Given the description of an element on the screen output the (x, y) to click on. 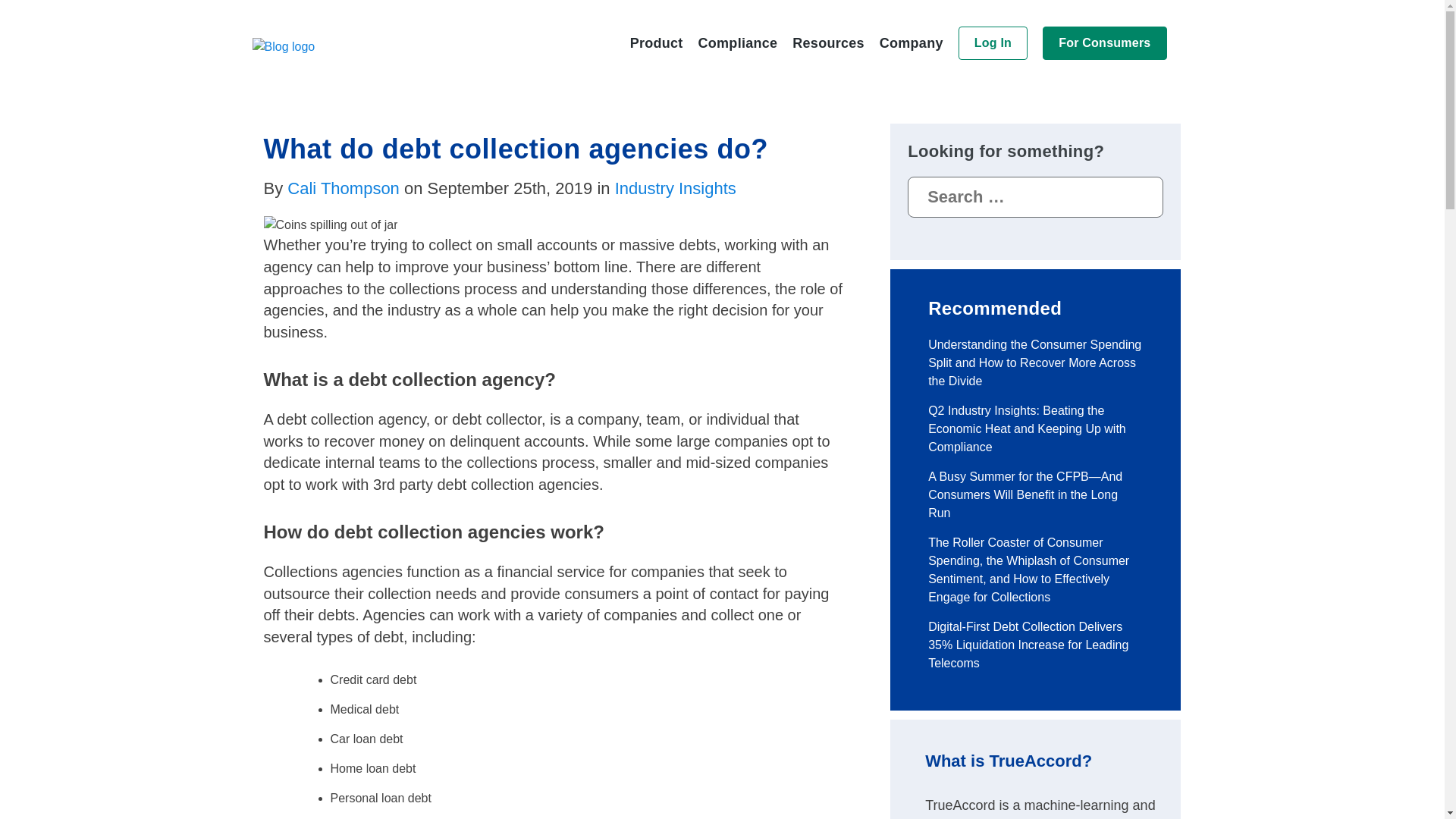
Log In (992, 42)
For Consumers (1104, 42)
Company (911, 42)
Compliance (737, 42)
Product (656, 42)
Posts by Cali Thompson (342, 188)
Resources (827, 42)
